Given the description of an element on the screen output the (x, y) to click on. 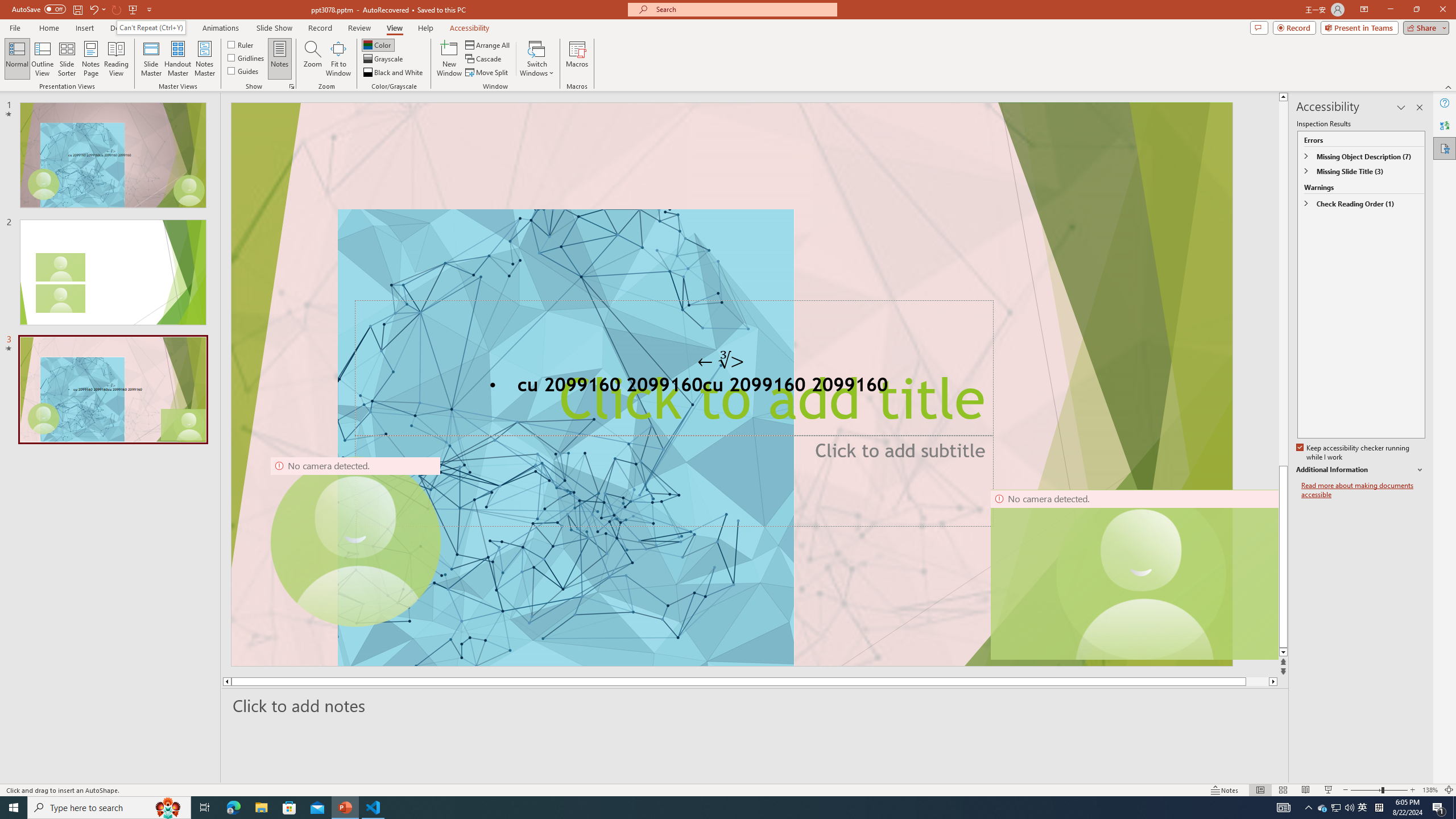
An abstract genetic concept (731, 384)
Grid Settings... (291, 85)
